Given the description of an element on the screen output the (x, y) to click on. 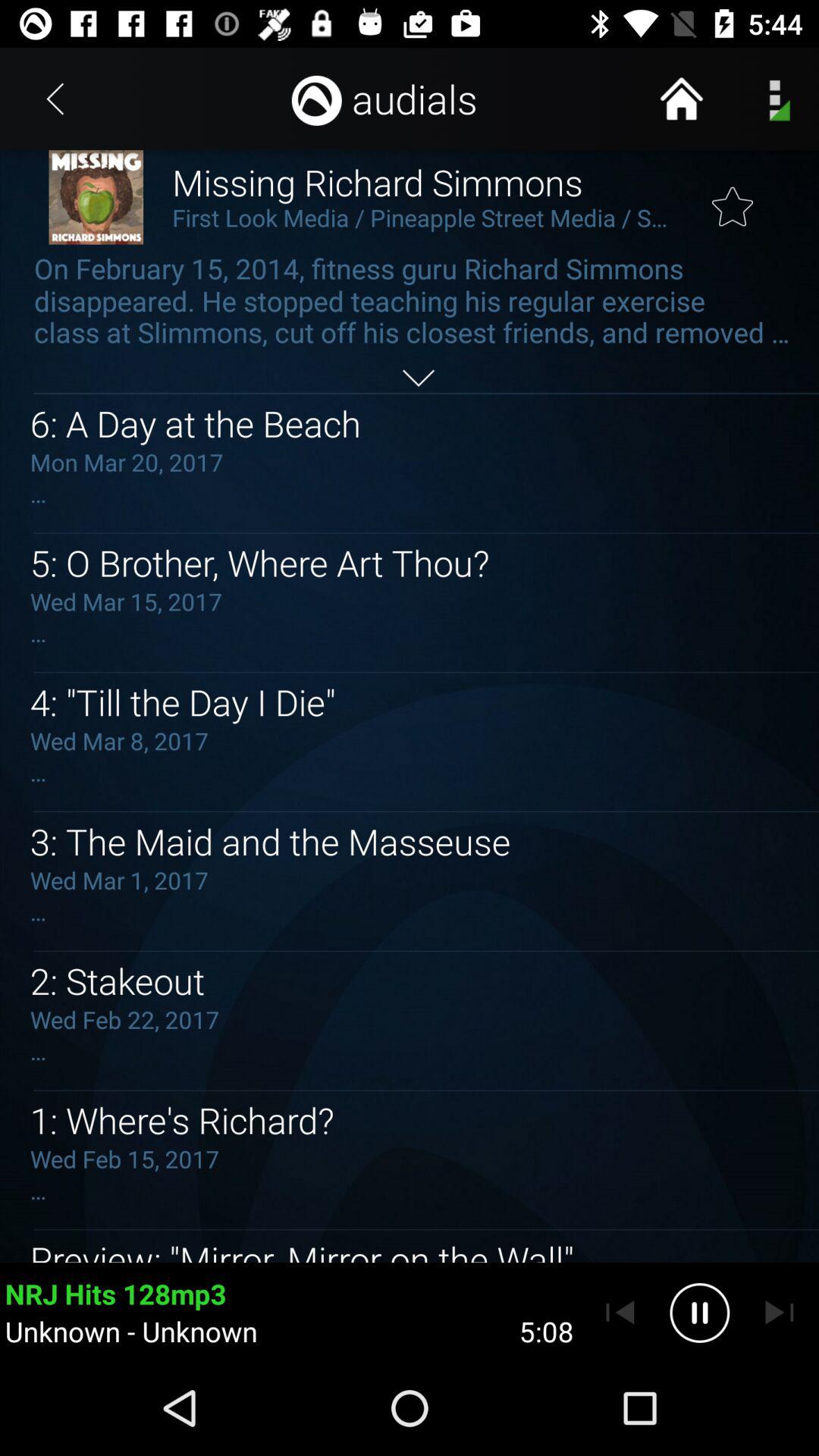
add to favorites (732, 197)
